Given the description of an element on the screen output the (x, y) to click on. 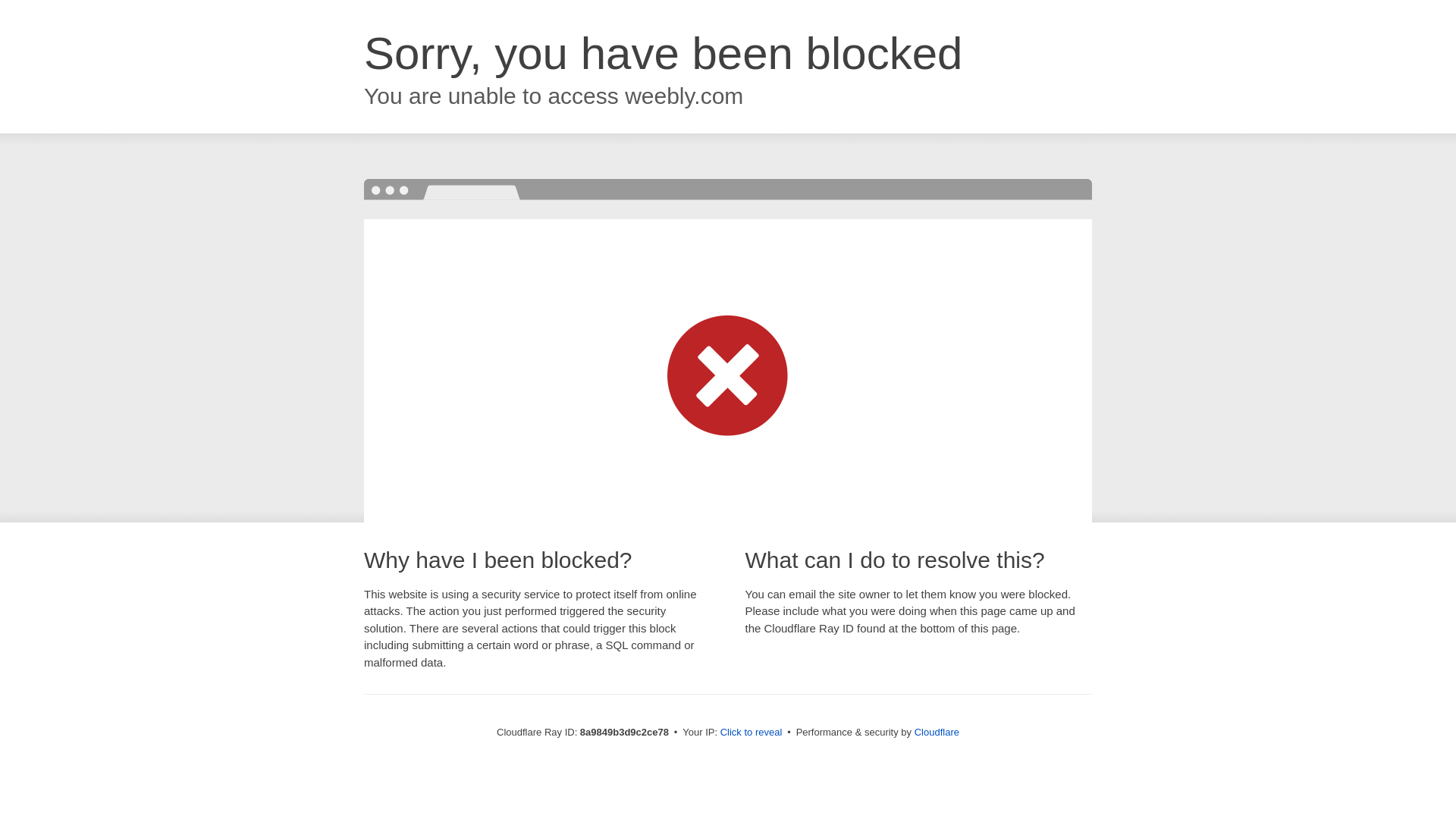
Click to reveal (751, 732)
Cloudflare (936, 731)
